Given the description of an element on the screen output the (x, y) to click on. 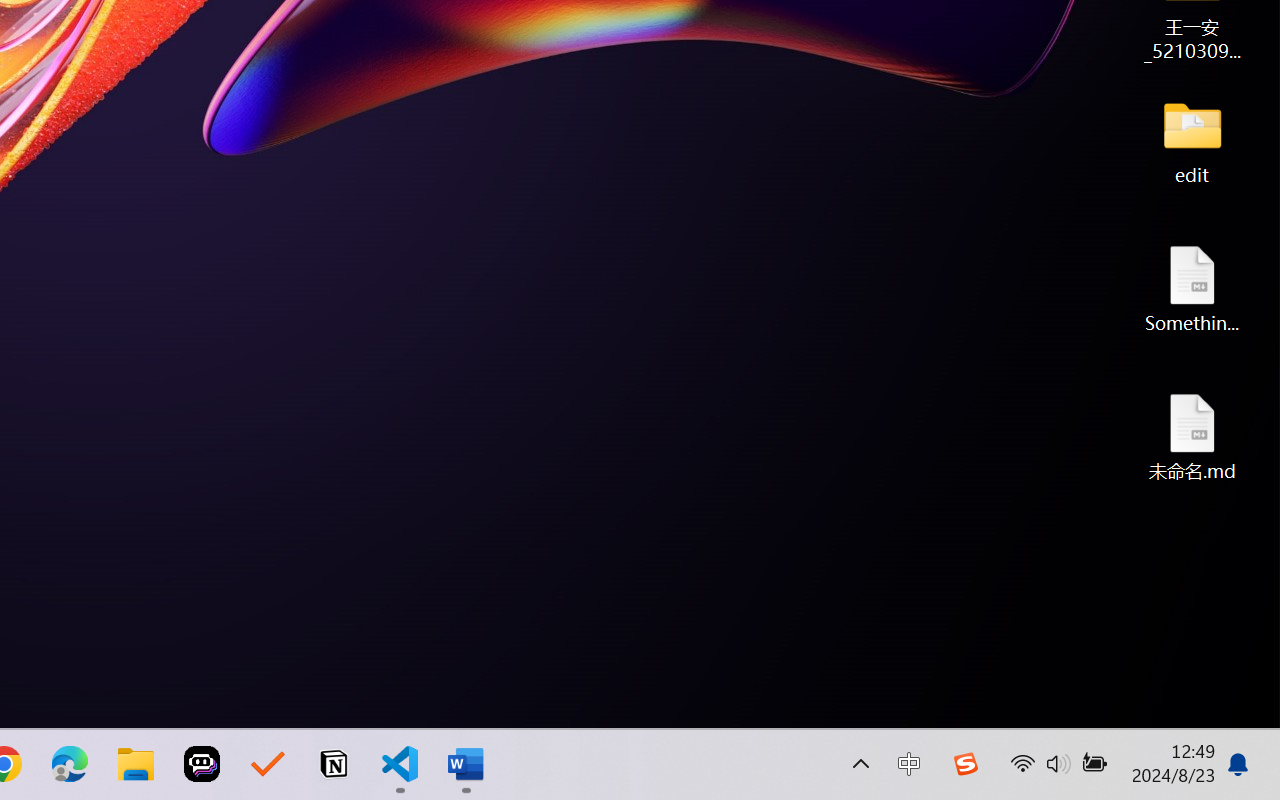
Microsoft Edge (69, 764)
Something.md (1192, 288)
